Given the description of an element on the screen output the (x, y) to click on. 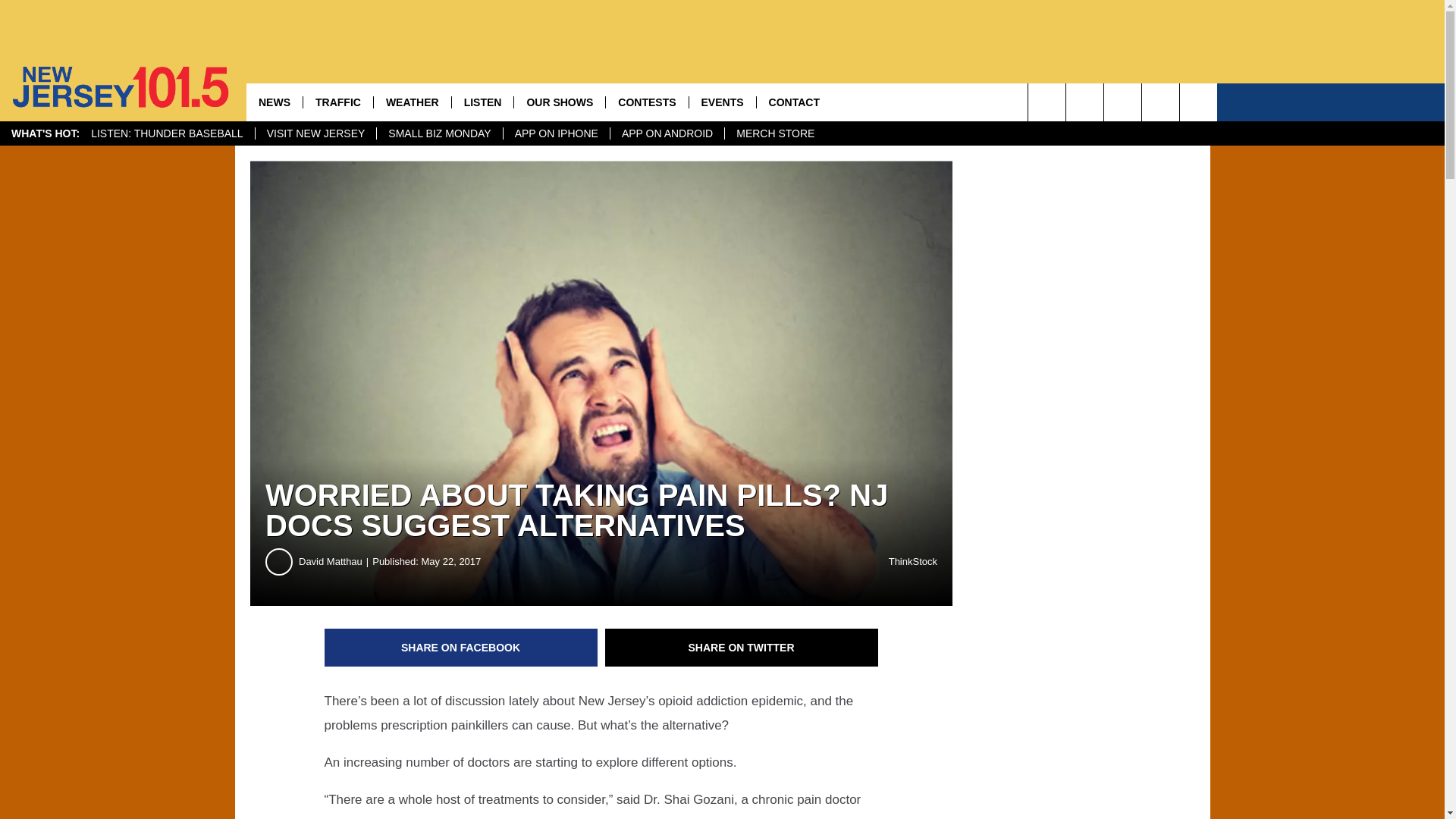
LISTEN (482, 102)
Share on Facebook (460, 647)
NEWS (274, 102)
LISTEN: THUNDER BASEBALL (166, 133)
WEATHER (411, 102)
Share on Twitter (741, 647)
SMALL BIZ MONDAY (438, 133)
VISIT NEW JERSEY (315, 133)
APP ON IPHONE (556, 133)
MERCH STORE (774, 133)
